Given the description of an element on the screen output the (x, y) to click on. 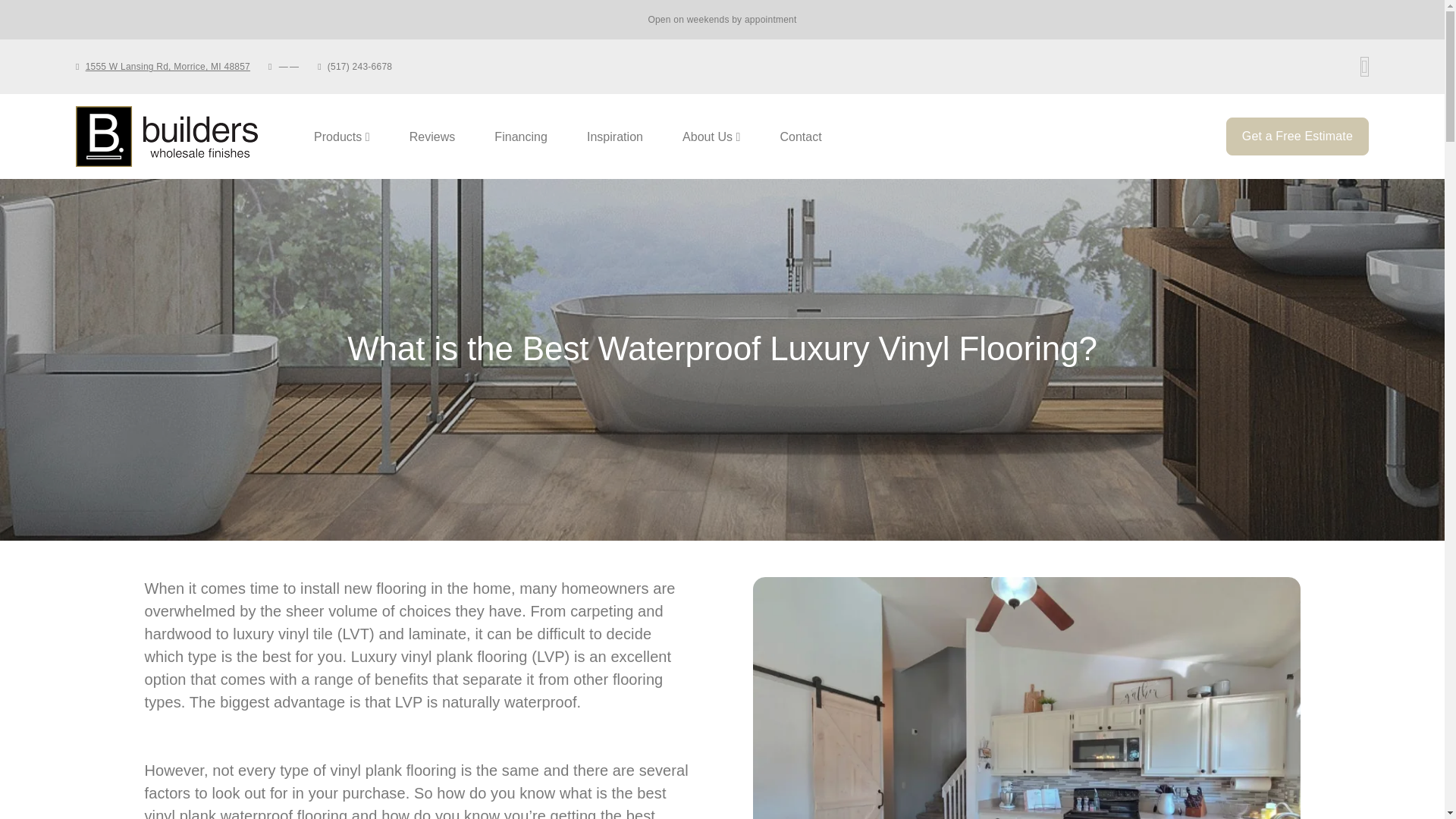
1555 W Lansing Rd, Morrice, MI 48857 (741, 136)
Products (167, 66)
